Given the description of an element on the screen output the (x, y) to click on. 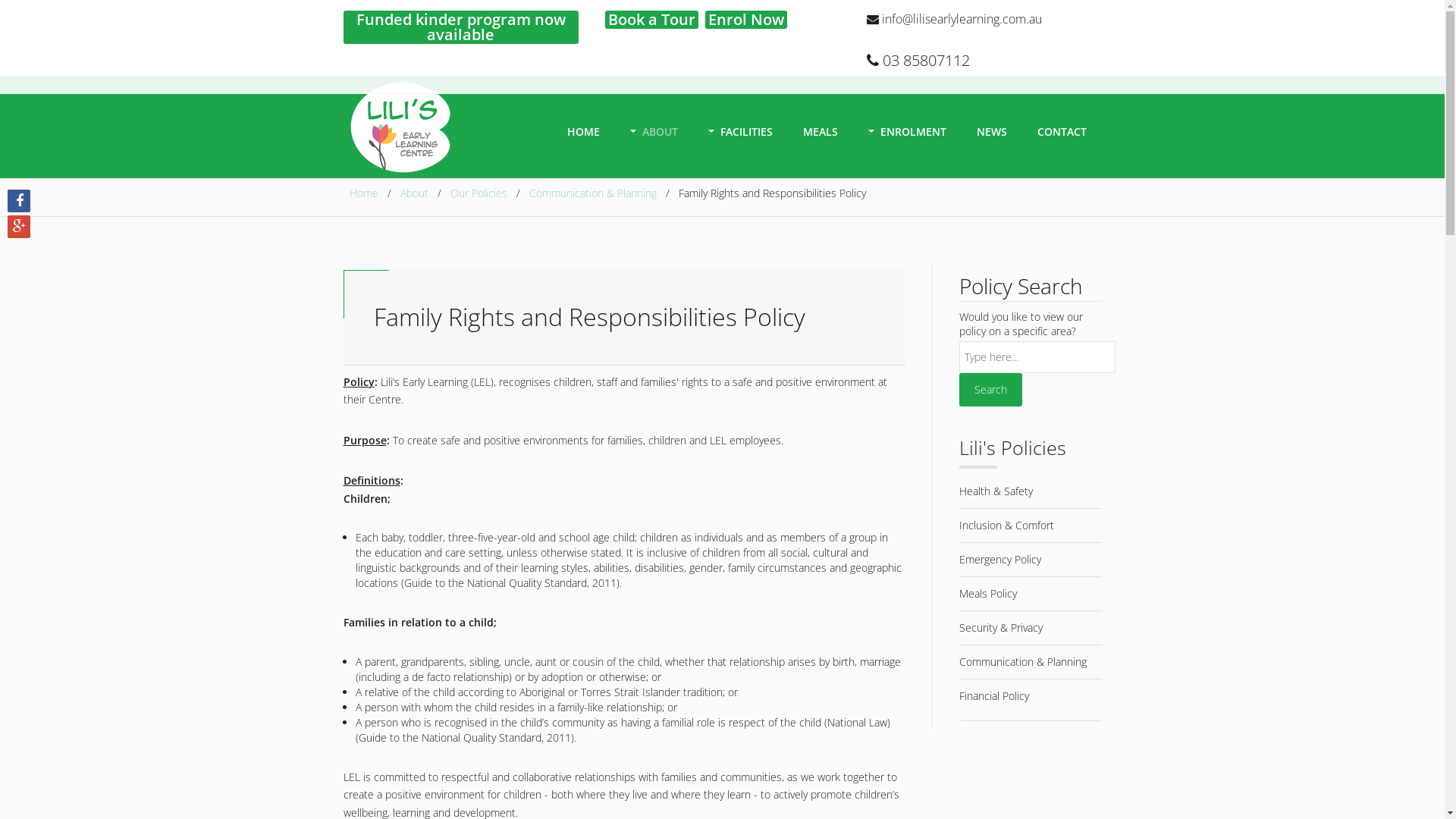
Book a Tour Element type: text (651, 19)
NEWS Element type: text (991, 127)
info@lilisearlylearning.com.au Element type: text (953, 18)
Enrol Now Element type: text (746, 19)
Health & Safety Element type: text (995, 490)
Communication & Planning Element type: text (1022, 661)
Our Policies Element type: text (478, 192)
Meals Policy Element type: text (987, 593)
03 85807112 Element type: text (917, 60)
Communication & Planning Element type: text (592, 192)
ABOUT Element type: text (653, 127)
Emergency Policy Element type: text (1000, 559)
Financial Policy Element type: text (994, 695)
MEALS Element type: text (819, 127)
Inclusion & Comfort Element type: text (1006, 524)
Security & Privacy Element type: text (1000, 627)
Funded kinder program now available Element type: text (459, 26)
HOME Element type: text (583, 127)
About Element type: text (414, 192)
CONTACT Element type: text (1061, 127)
Search Element type: text (990, 389)
Home Element type: text (362, 192)
